Given the description of an element on the screen output the (x, y) to click on. 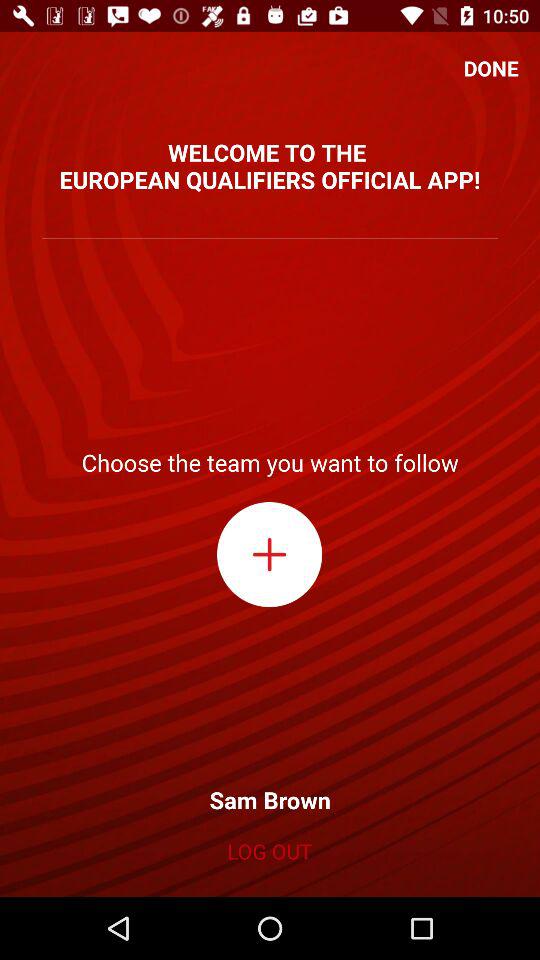
select option (269, 554)
